Given the description of an element on the screen output the (x, y) to click on. 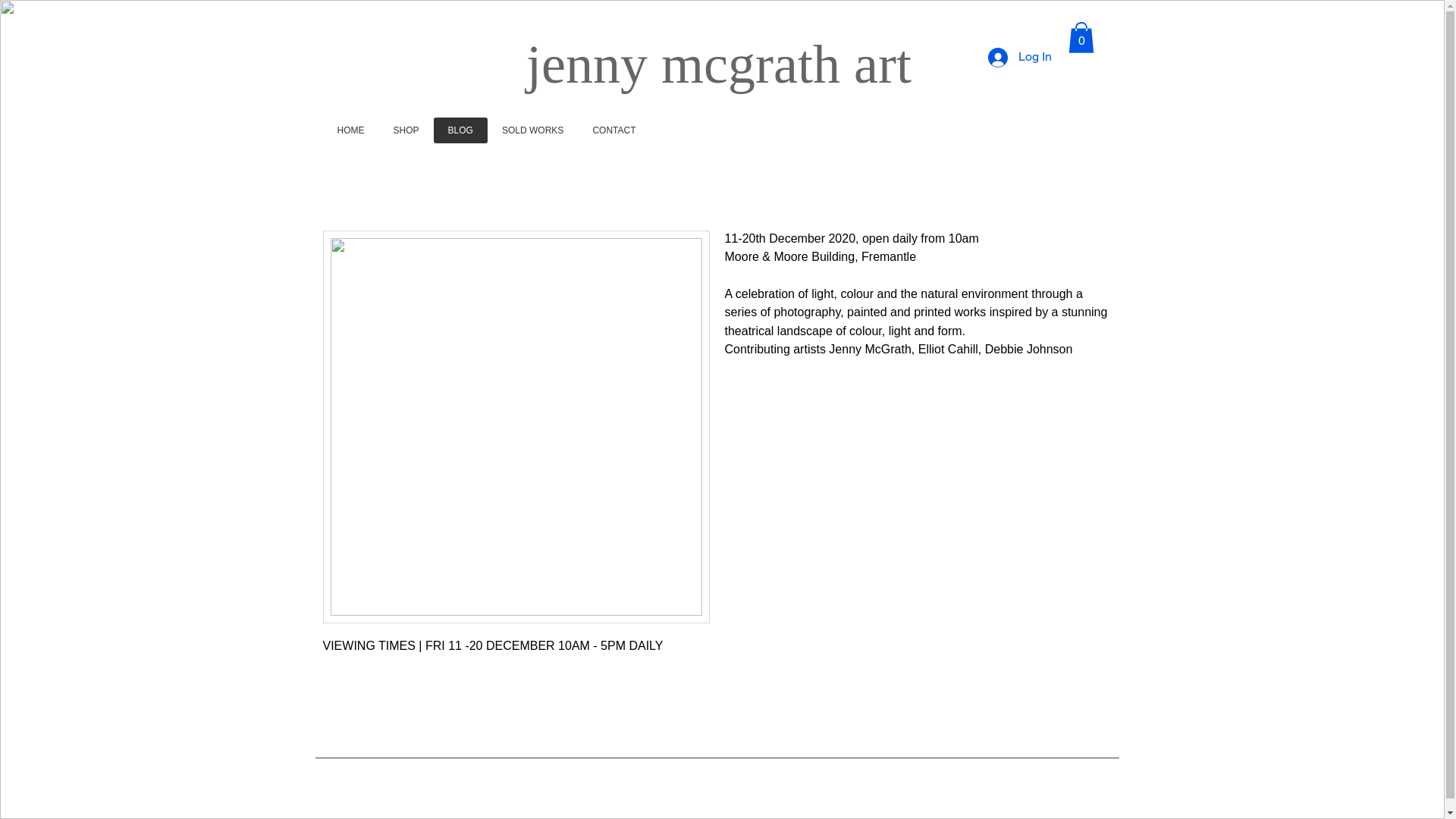
Log In Element type: text (1018, 57)
CONTACT Element type: text (613, 130)
SHOP Element type: text (406, 130)
HOME Element type: text (351, 130)
0 Element type: text (1080, 37)
BLOG Element type: text (460, 130)
SOLD WORKS Element type: text (532, 130)
